Given the description of an element on the screen output the (x, y) to click on. 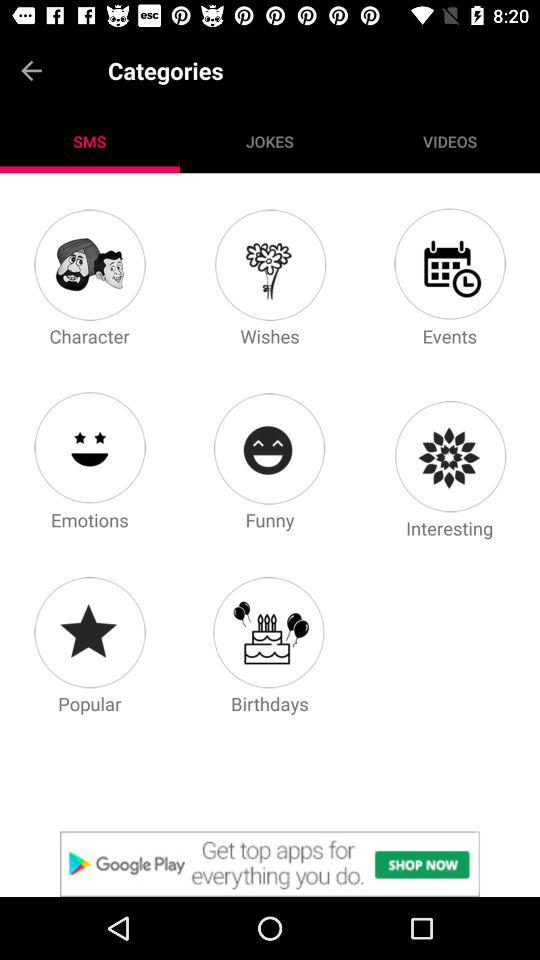
advertisement (270, 864)
